Given the description of an element on the screen output the (x, y) to click on. 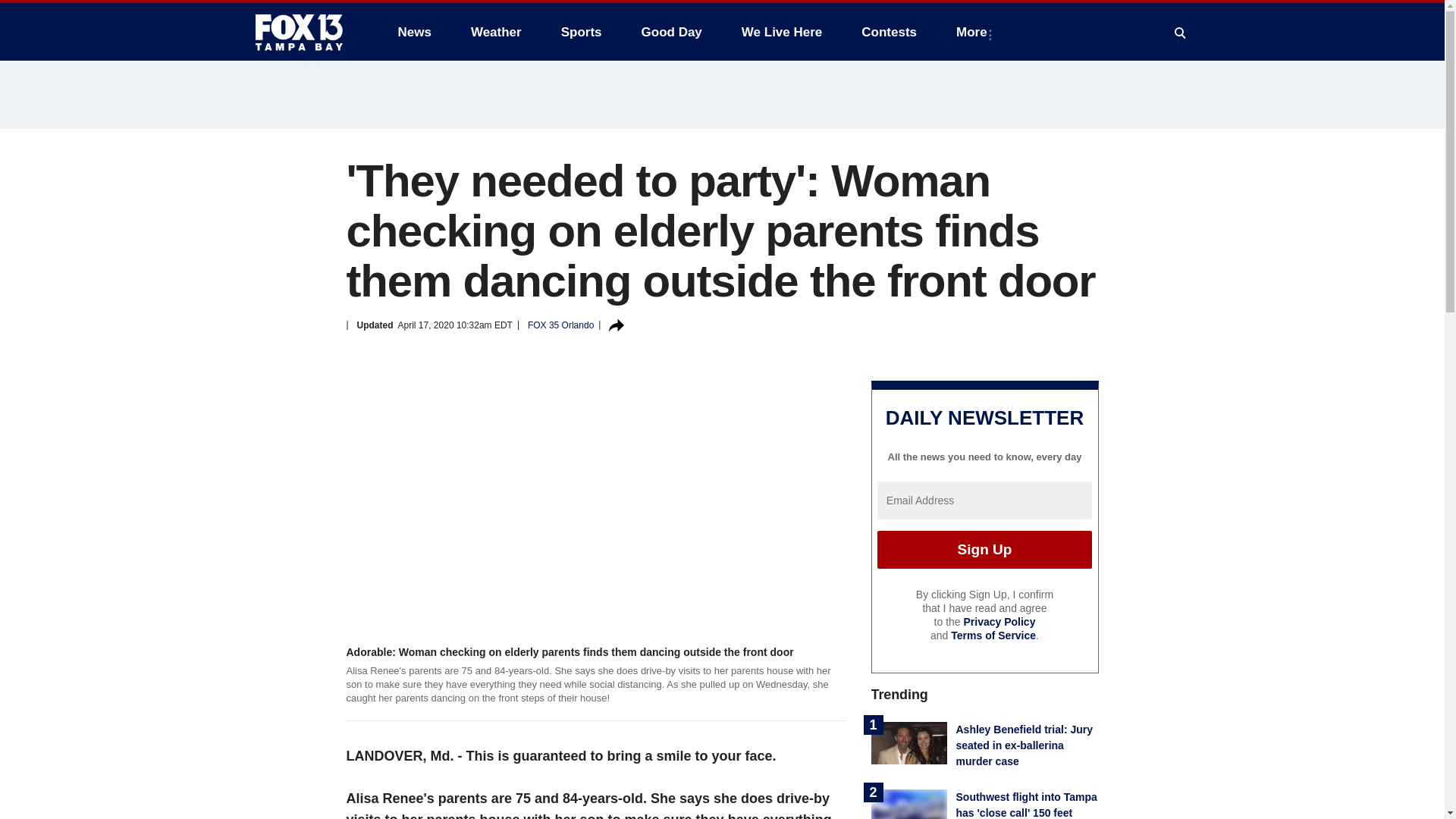
Sign Up (984, 549)
More (974, 32)
We Live Here (781, 32)
Good Day (671, 32)
Weather (496, 32)
News (413, 32)
Contests (888, 32)
Sports (581, 32)
